Given the description of an element on the screen output the (x, y) to click on. 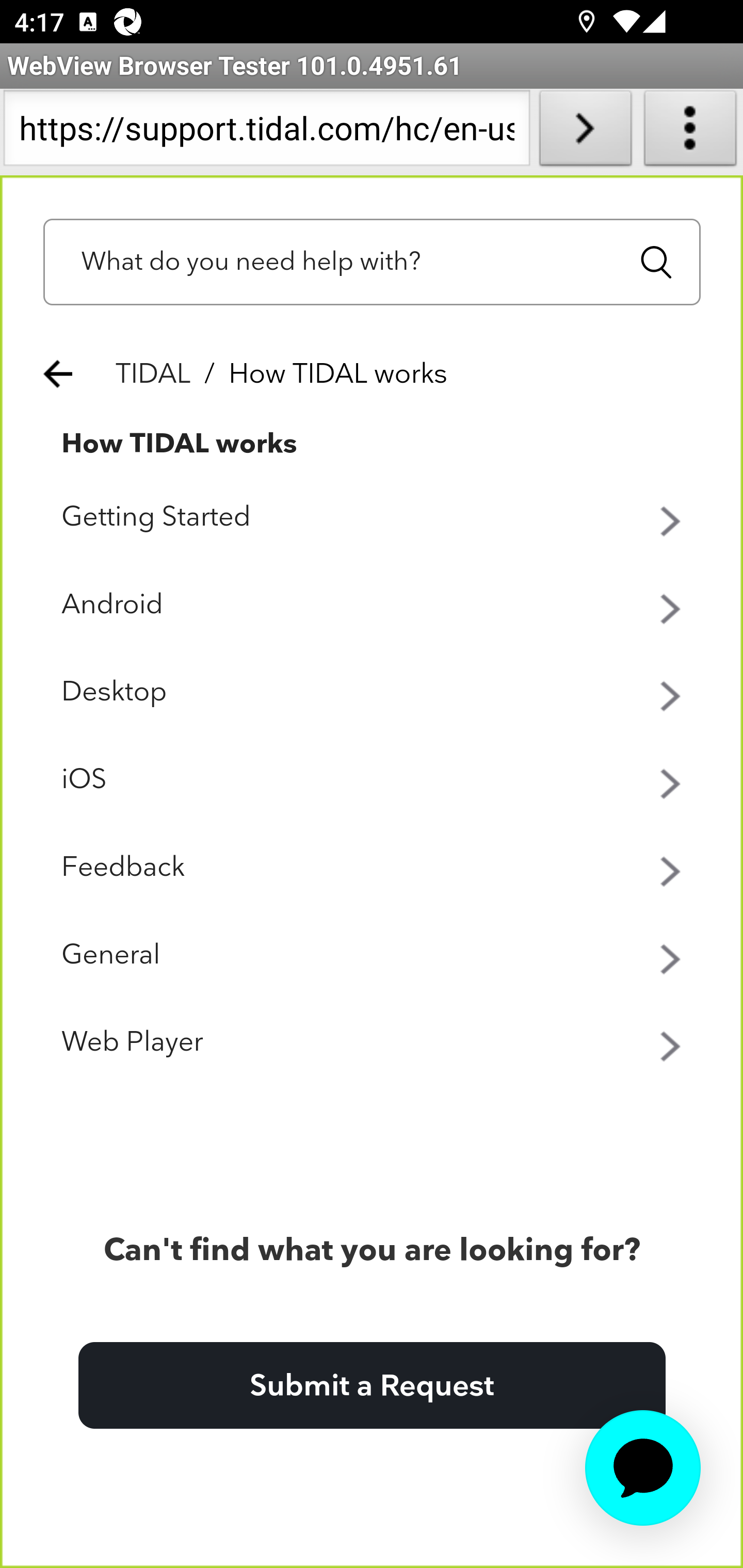
Load URL (585, 132)
About WebView (690, 132)
TIDAL (153, 374)
How TIDAL works (179, 444)
Getting Started (372, 517)
Android (372, 605)
Desktop (372, 692)
iOS (372, 779)
Feedback (372, 868)
General (372, 956)
Web Player (372, 1043)
Submit a Request (371, 1386)
